Given the description of an element on the screen output the (x, y) to click on. 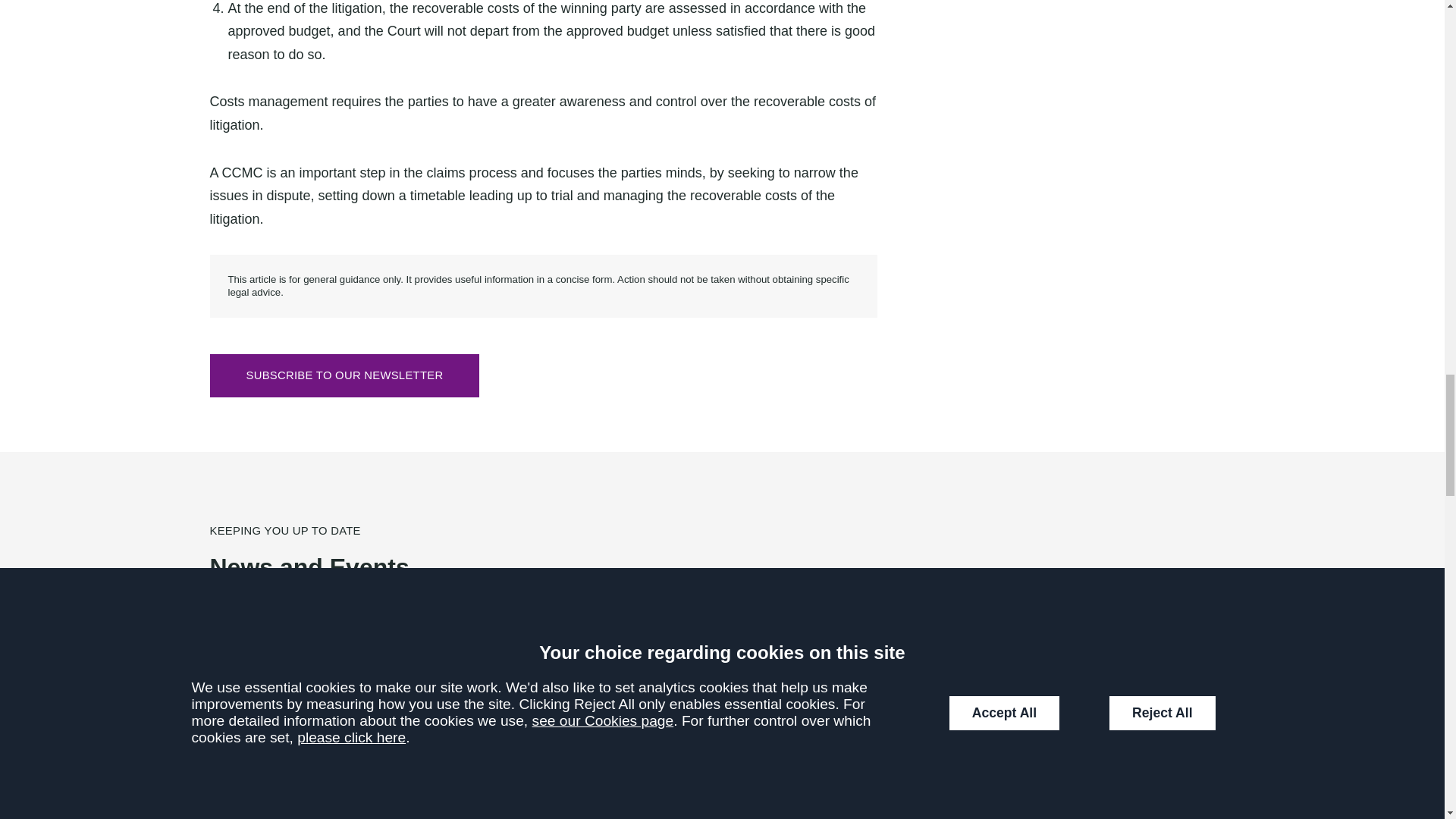
SUBSCRIBE TO OUR NEWSLETTER (344, 375)
